Given the description of an element on the screen output the (x, y) to click on. 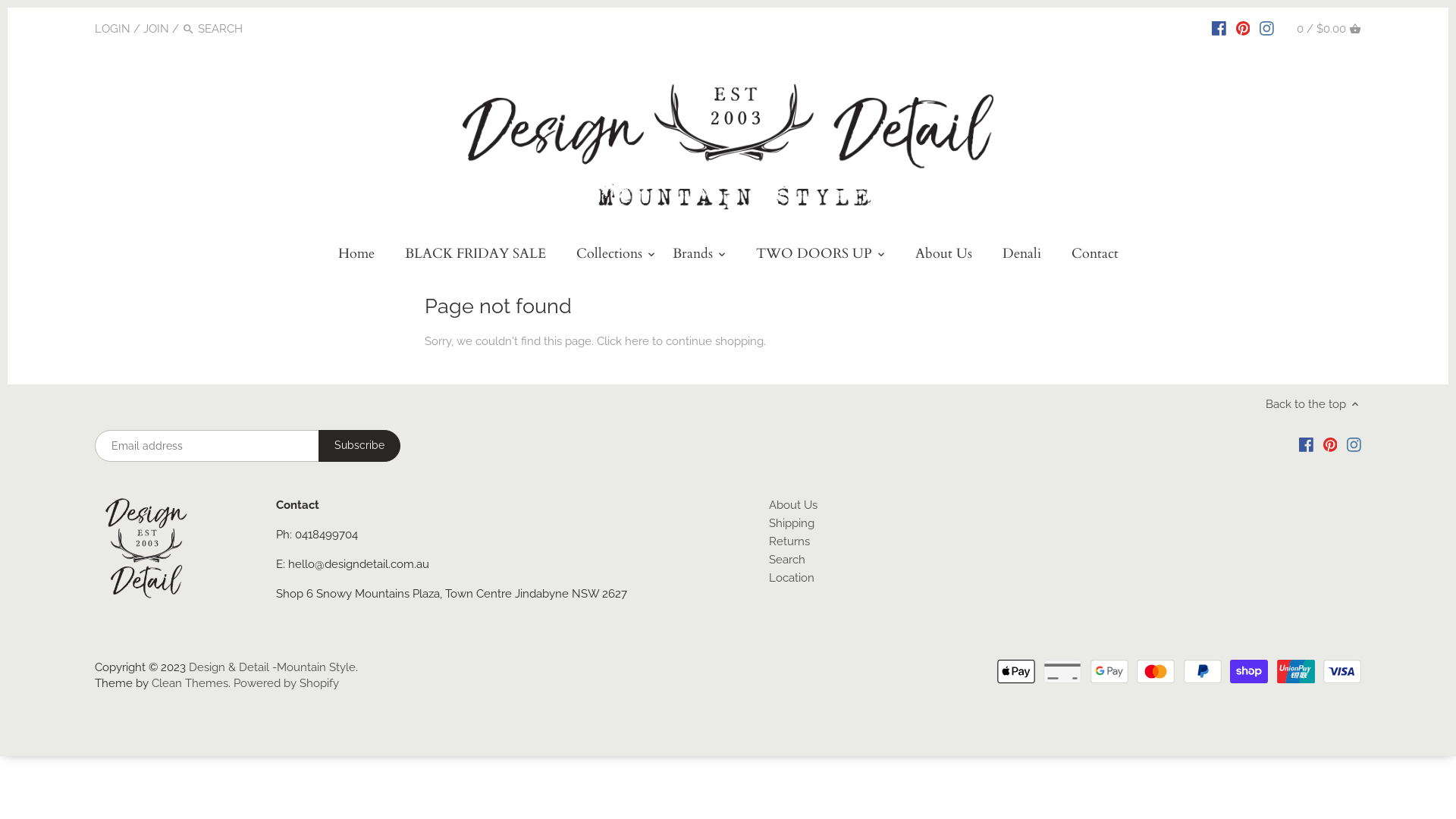
TWO DOORS UP Element type: text (812, 256)
Home Element type: text (356, 256)
LOGIN Element type: text (112, 27)
Design & Detail -Mountain Style Element type: text (271, 667)
Returns Element type: text (788, 541)
About Us Element type: text (942, 256)
Subscribe Element type: text (359, 445)
Contact Element type: text (1094, 256)
Collections Element type: text (608, 256)
0 / $0.00 CART Element type: text (1328, 28)
JOIN Element type: text (156, 27)
PINTEREST Element type: text (1243, 27)
Location Element type: text (791, 577)
About Us Element type: text (792, 504)
Click here Element type: text (622, 341)
Clean Themes Element type: text (189, 683)
INSTAGRAM Element type: text (1266, 27)
FACEBOOK Element type: text (1218, 27)
Instagram Element type: text (1353, 444)
Shipping Element type: text (791, 523)
Facebook Element type: text (1306, 444)
Denali Element type: text (1021, 256)
Search Element type: text (786, 559)
Search Element type: text (188, 29)
Pinterest Element type: text (1329, 444)
Powered by Shopify Element type: text (285, 683)
Brands Element type: text (691, 256)
BLACK FRIDAY SALE Element type: text (475, 256)
Back to the top Element type: text (1313, 403)
